Given the description of an element on the screen output the (x, y) to click on. 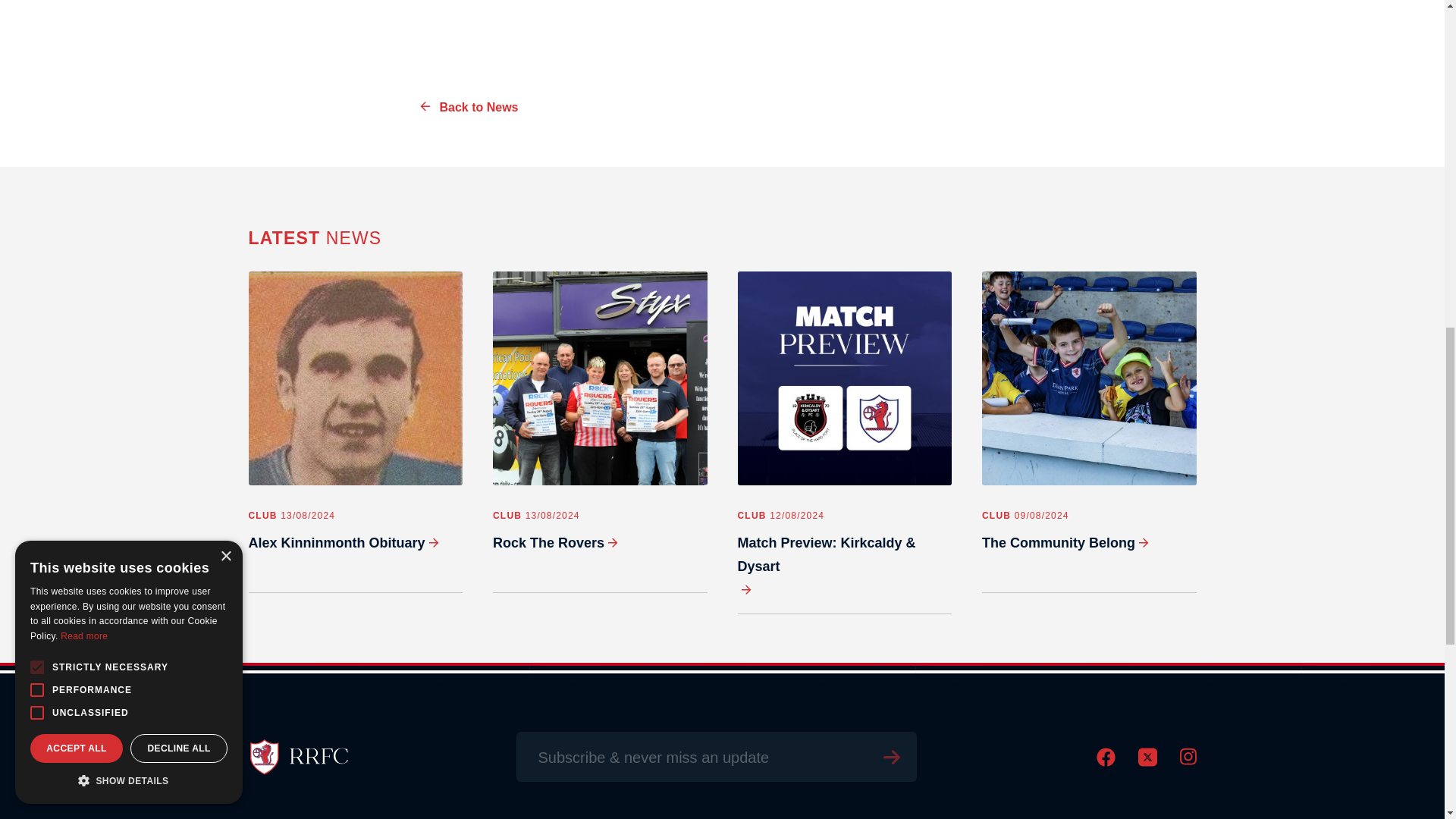
Find us on X (1146, 762)
Find us on Instagram (1187, 761)
Find us on Facebook (1105, 762)
